Given the description of an element on the screen output the (x, y) to click on. 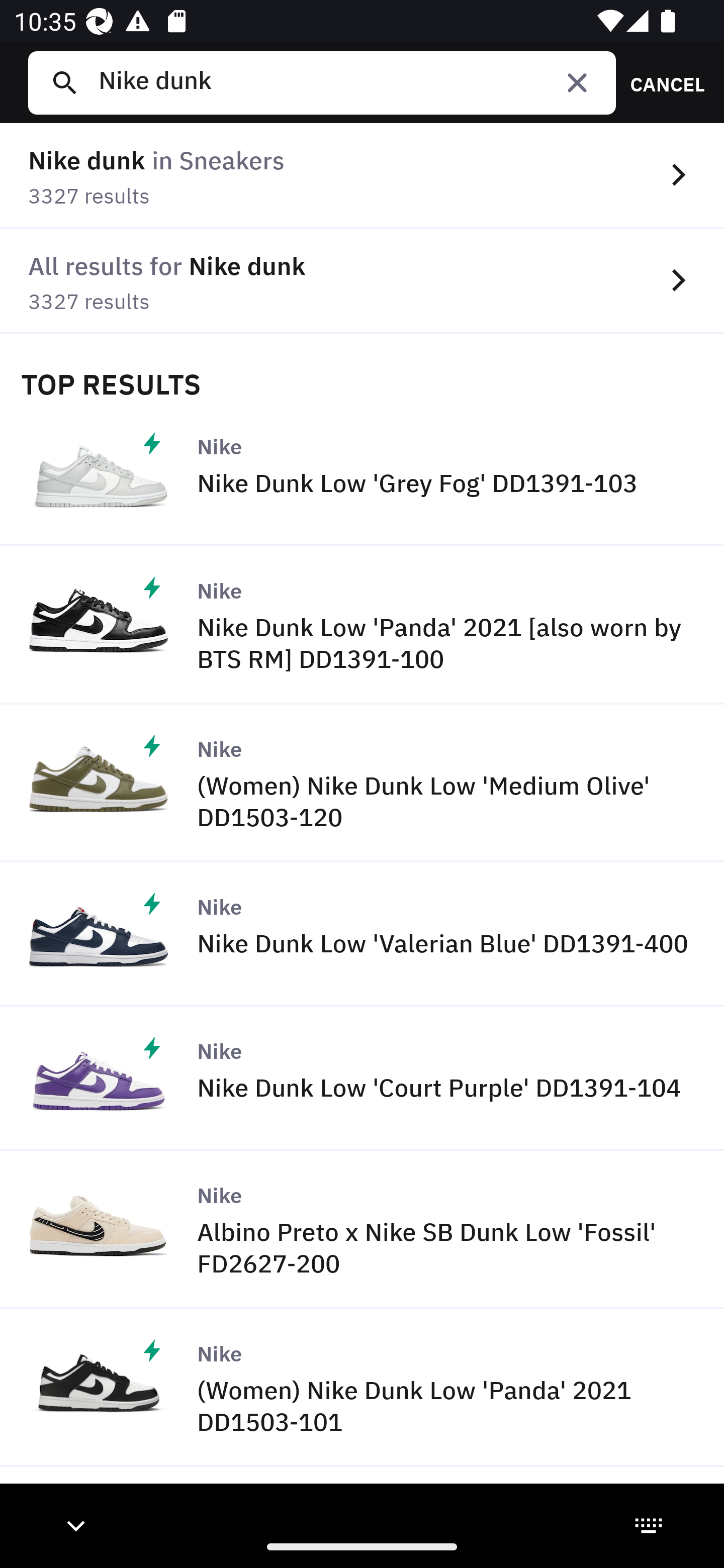
CANCEL (660, 82)
Nike dunk (349, 82)
 (577, 82)
Nike dunk  in Sneakers 3327 results  (362, 175)
All results for  Nike dunk 3327 results  (362, 280)
 Nike Nike Dunk Low 'Grey Fog' DD1391‑103 (362, 473)
 Nike Nike Dunk Low 'Valerian Blue' DD1391‑400 (362, 934)
 Nike Nike Dunk Low 'Court Purple' DD1391‑104 (362, 1078)
